Given the description of an element on the screen output the (x, y) to click on. 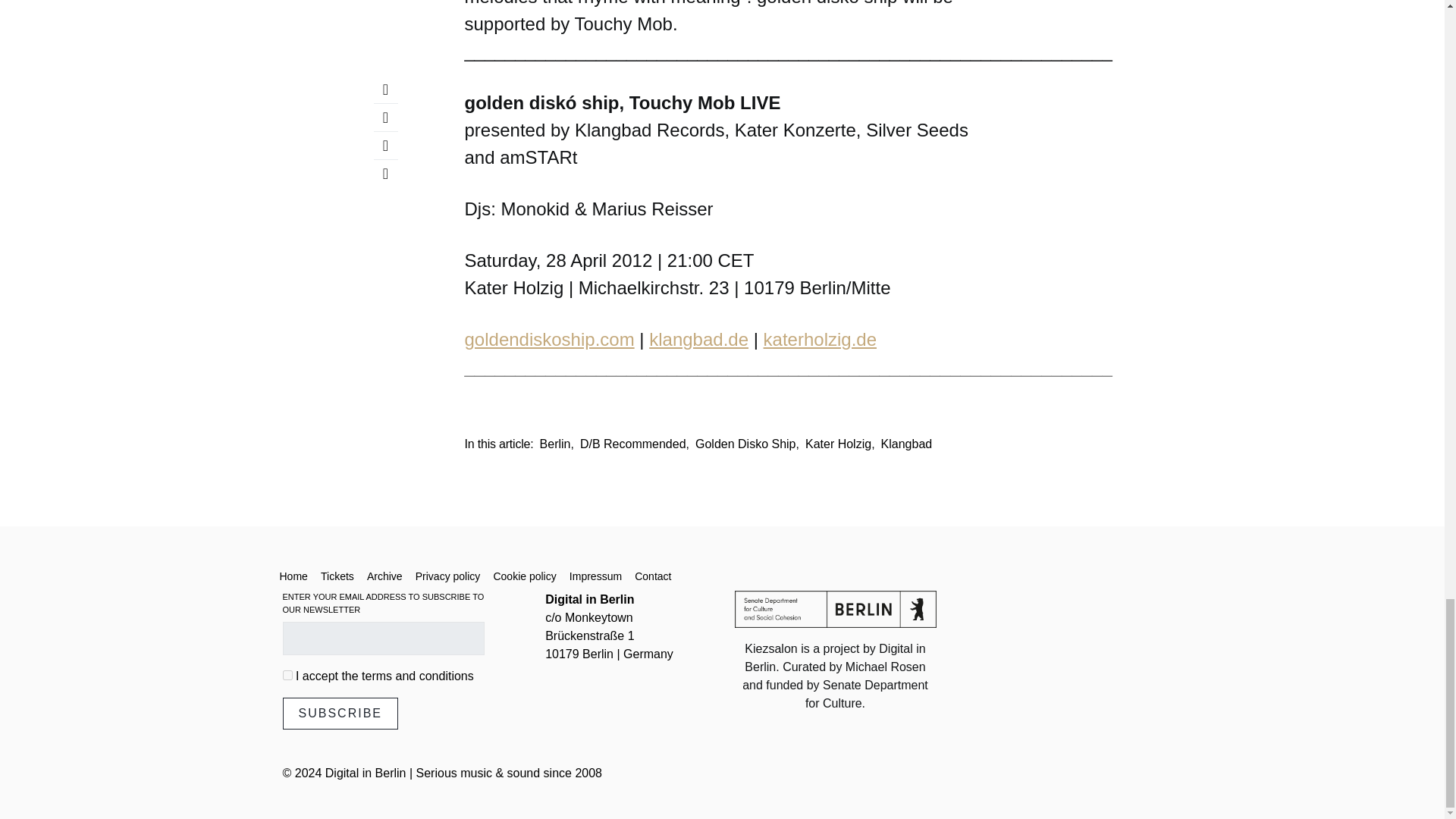
Subscribe (339, 713)
on (287, 675)
Please enter a valid email address (382, 638)
